Given the description of an element on the screen output the (x, y) to click on. 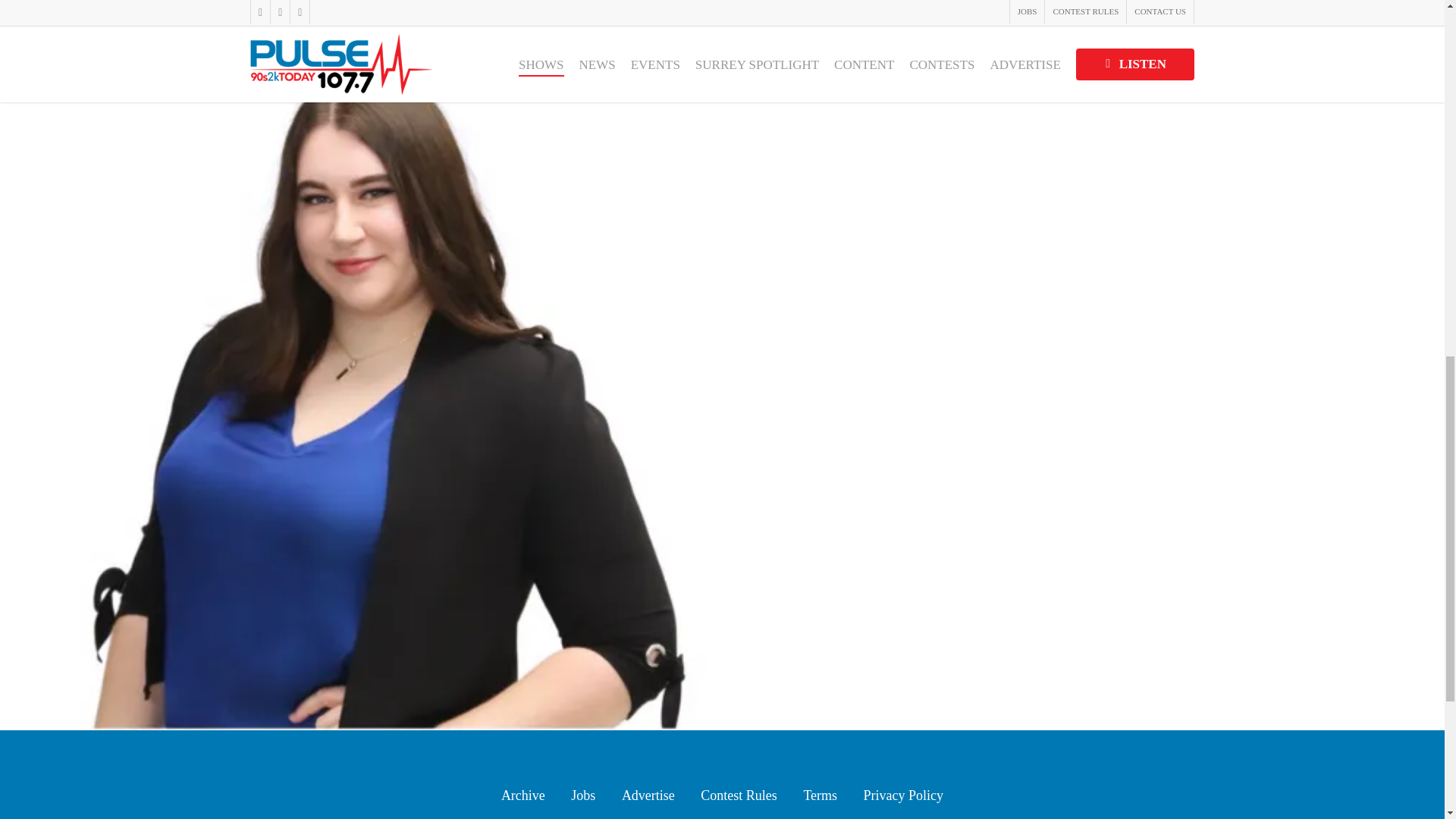
Jobs (582, 795)
Terms (820, 795)
Advertise (648, 795)
Privacy Policy (903, 795)
Contest Rules (738, 795)
Archive (522, 795)
